Given the description of an element on the screen output the (x, y) to click on. 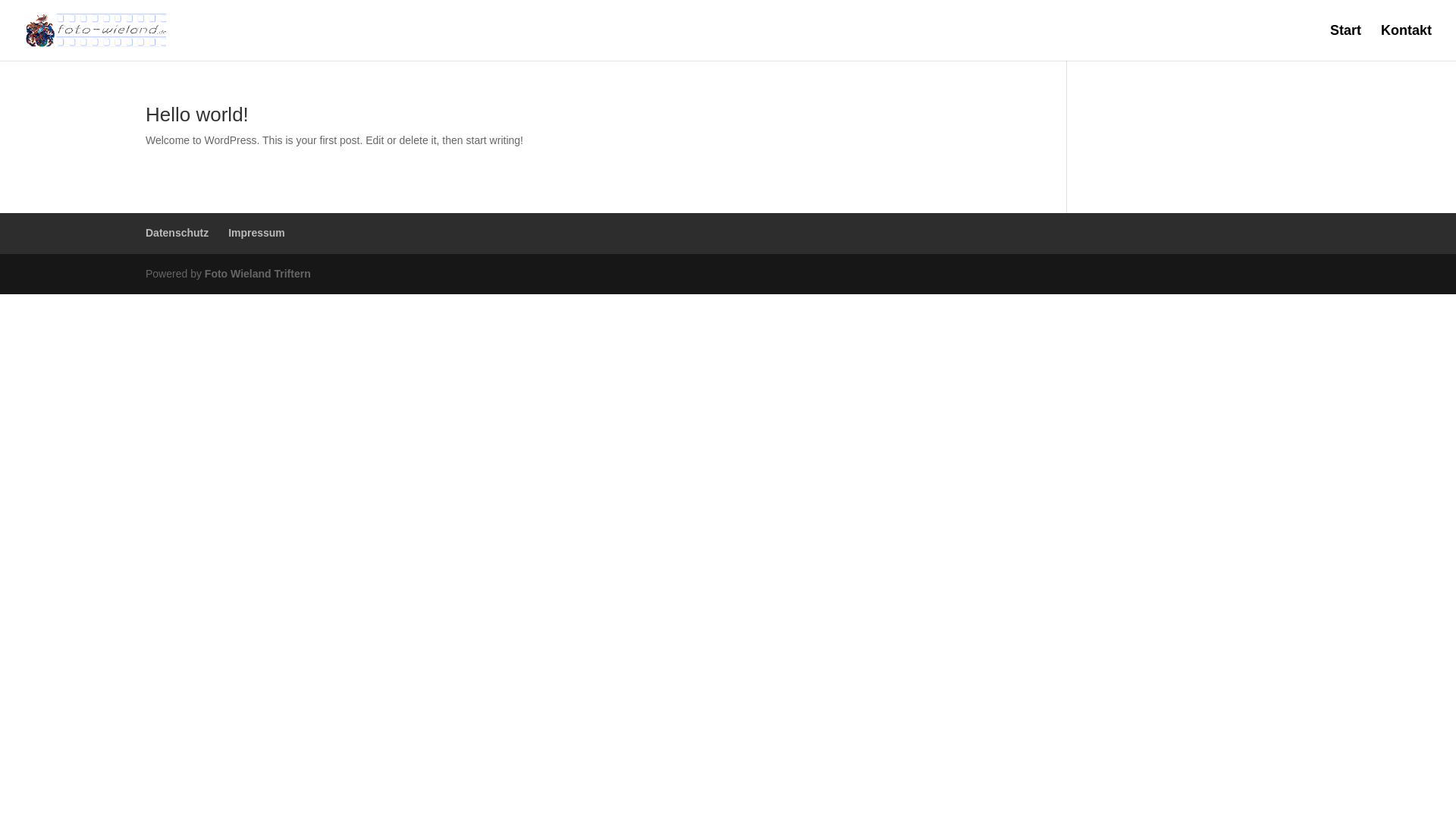
Impressum Element type: text (256, 232)
Datenschutz Element type: text (176, 232)
Kontakt Element type: text (1405, 42)
Start Element type: text (1345, 42)
Foto Wieland Triftern Element type: text (257, 273)
Hello world! Element type: text (196, 114)
